Given the description of an element on the screen output the (x, y) to click on. 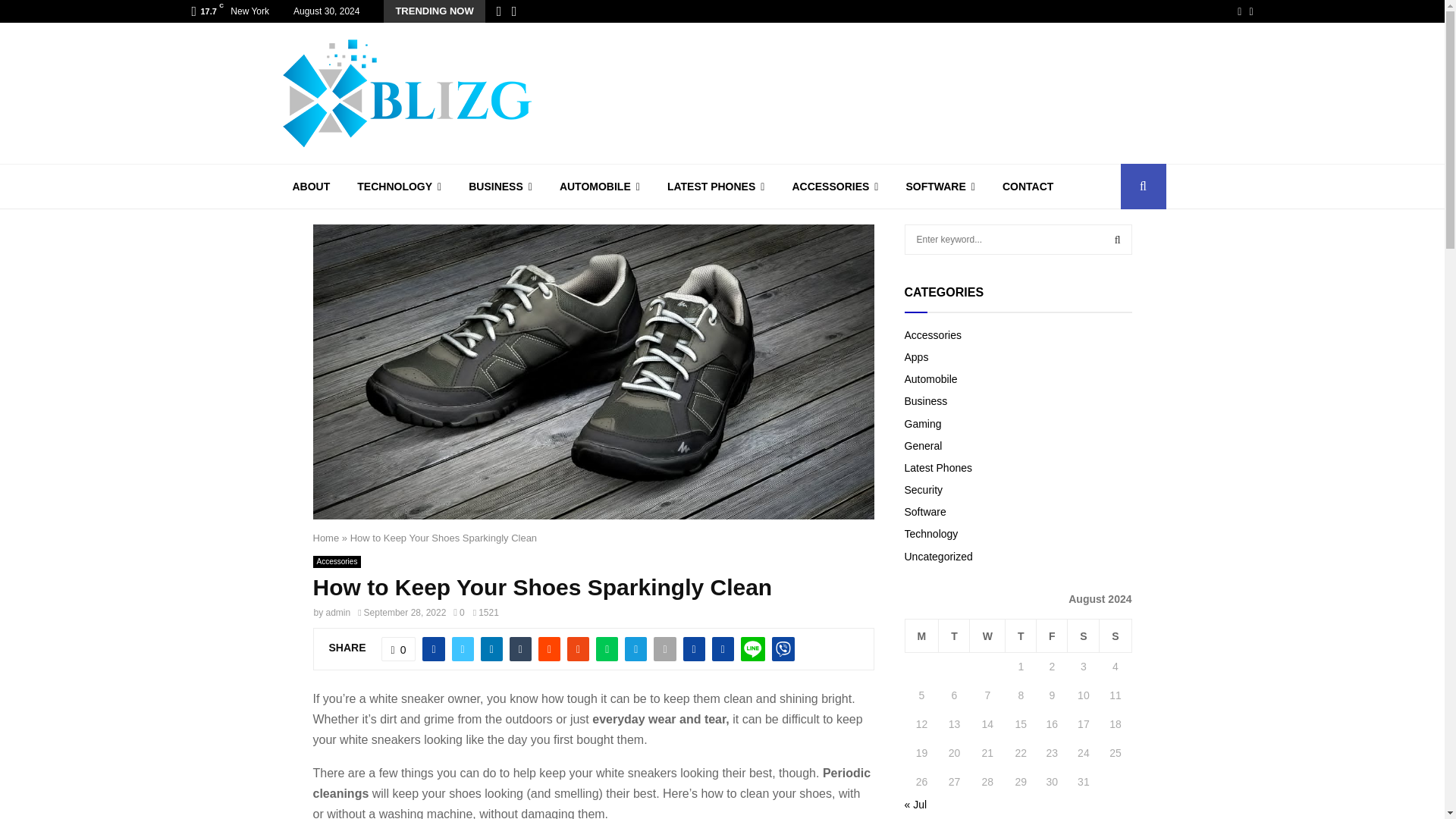
ABOUT (311, 186)
TECHNOLOGY (398, 186)
BUSINESS (500, 186)
